Given the description of an element on the screen output the (x, y) to click on. 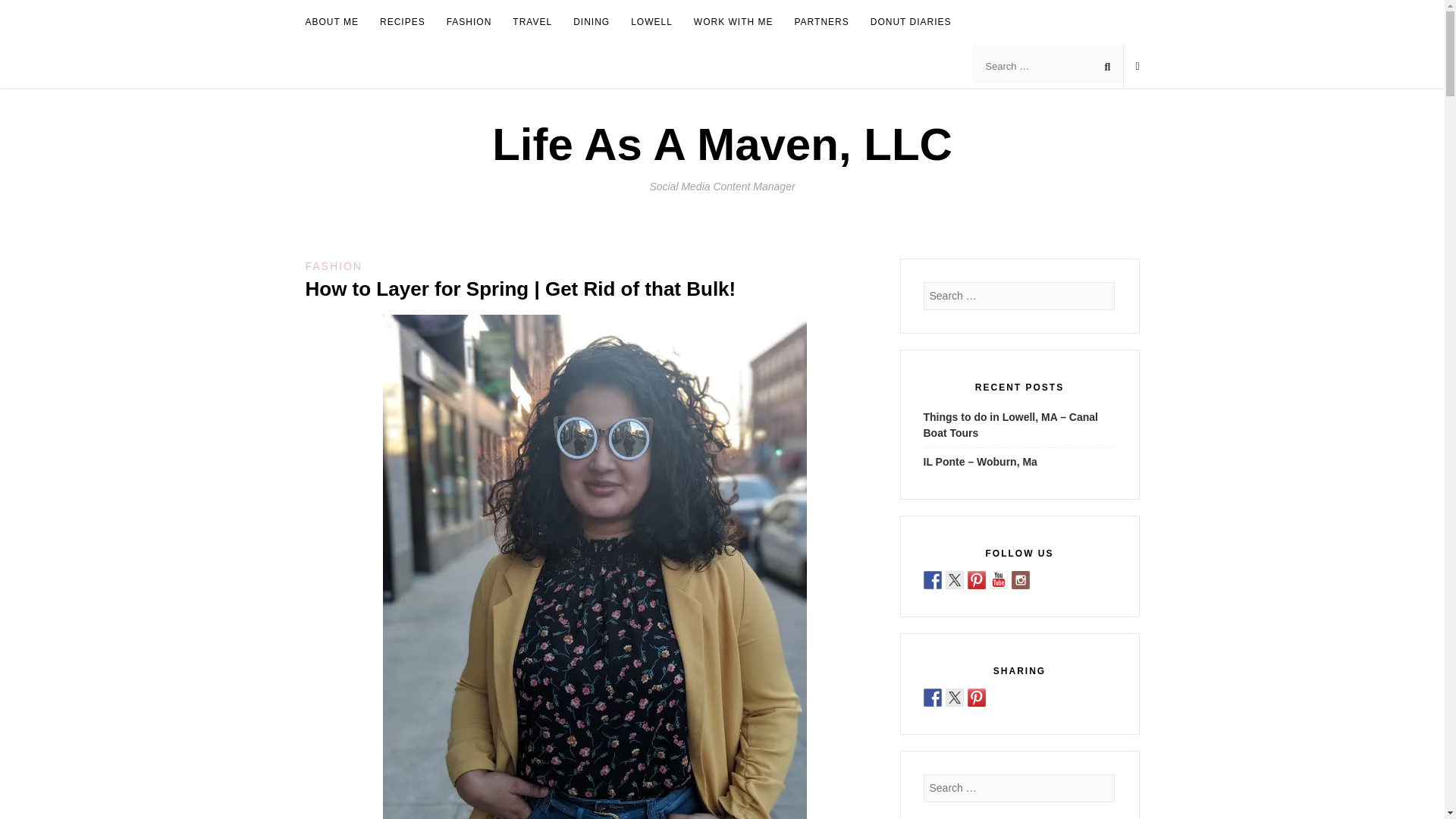
RECIPES (402, 22)
Life As A Maven, LLC (722, 143)
LOWELL (651, 22)
FASHION (332, 265)
Follow us on Twitter (953, 579)
FASHION (469, 22)
Search (26, 12)
Our board on Pinterest (976, 579)
WORK WITH ME (733, 22)
Follow us on Facebook (932, 579)
